Given the description of an element on the screen output the (x, y) to click on. 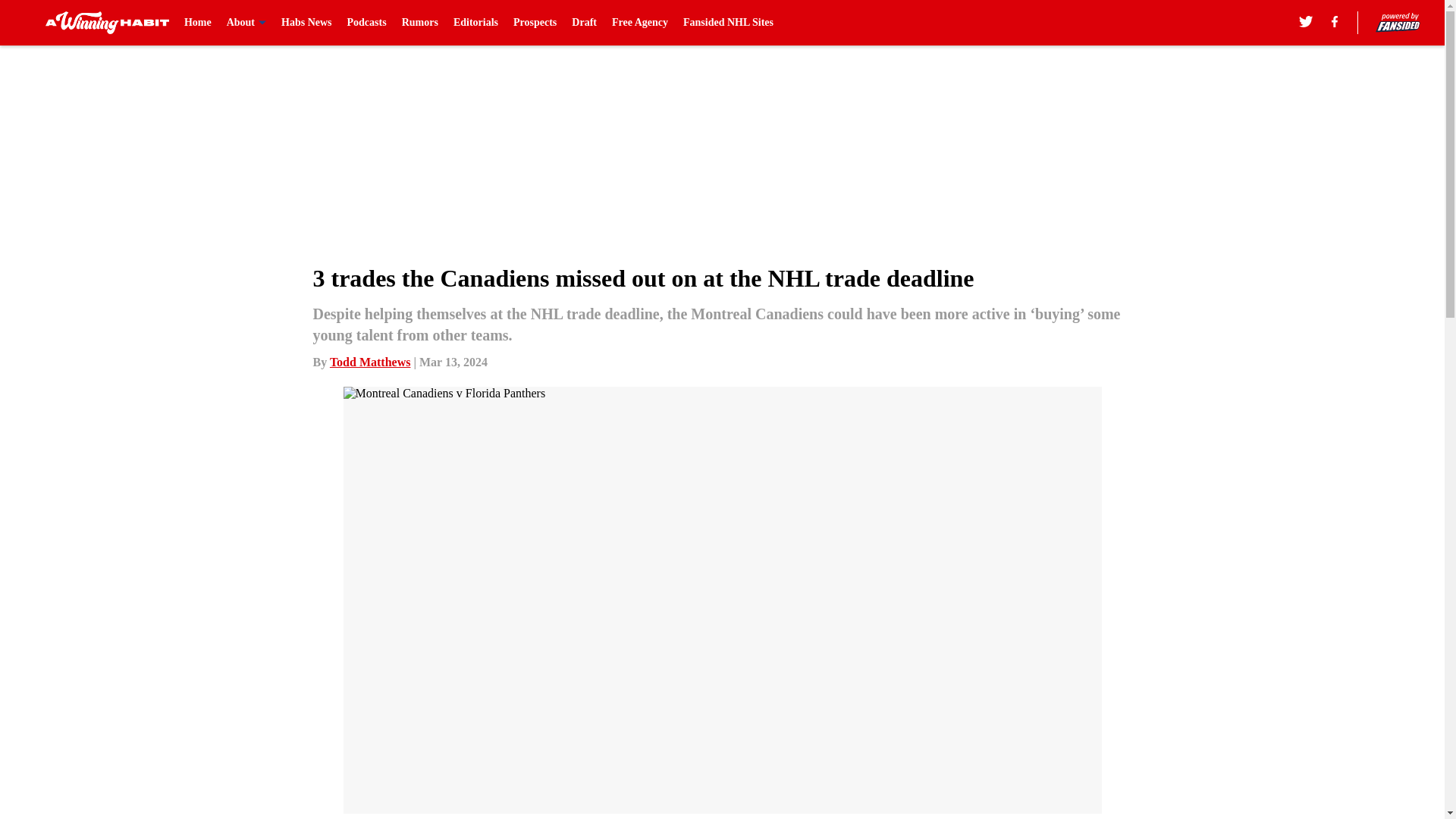
Rumors (419, 22)
Habs News (306, 22)
Draft (584, 22)
Fansided NHL Sites (727, 22)
Todd Matthews (370, 361)
Editorials (474, 22)
Home (197, 22)
Podcasts (367, 22)
Prospects (534, 22)
